Given the description of an element on the screen output the (x, y) to click on. 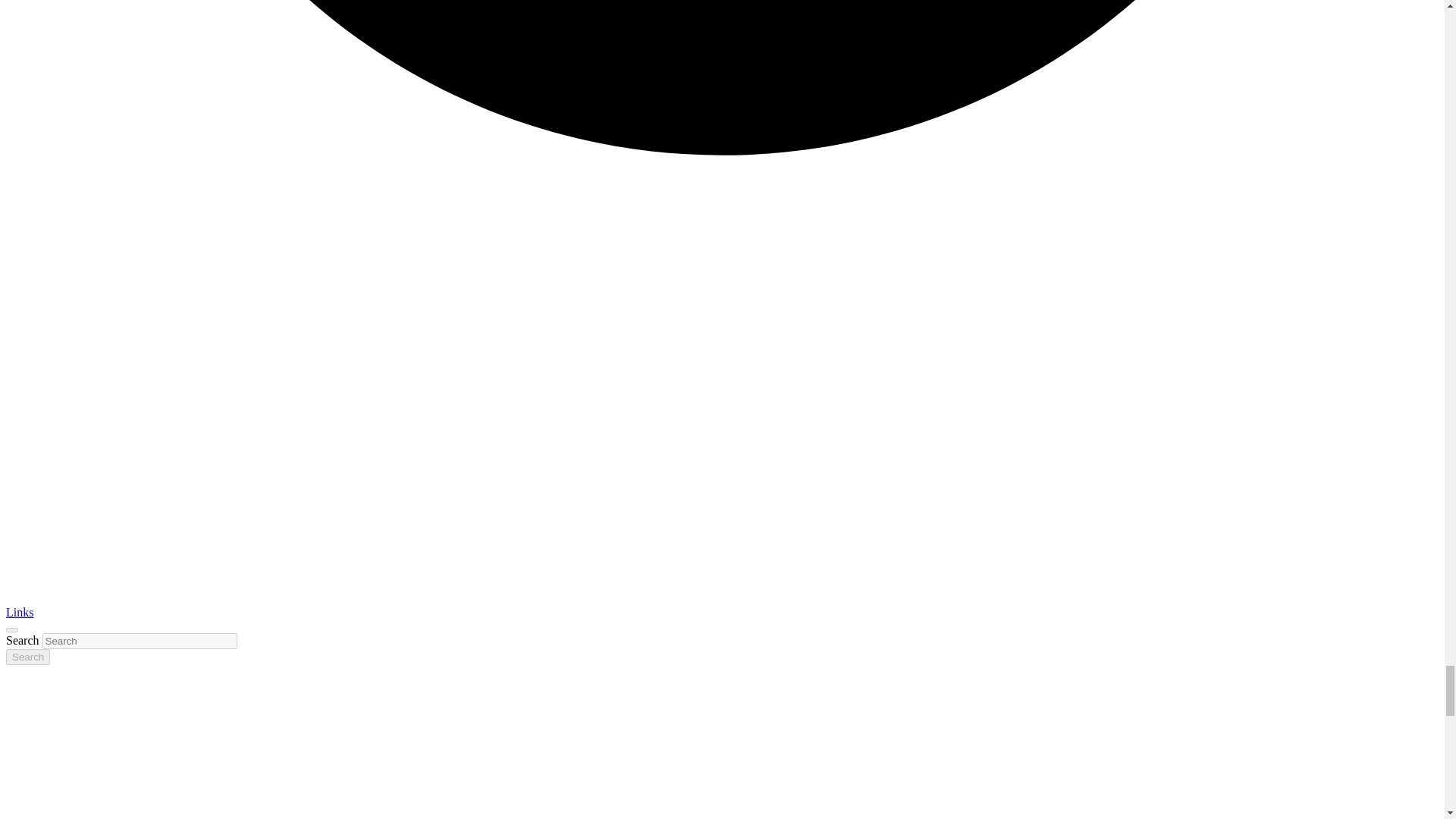
Search (27, 657)
Links (19, 612)
